Given the description of an element on the screen output the (x, y) to click on. 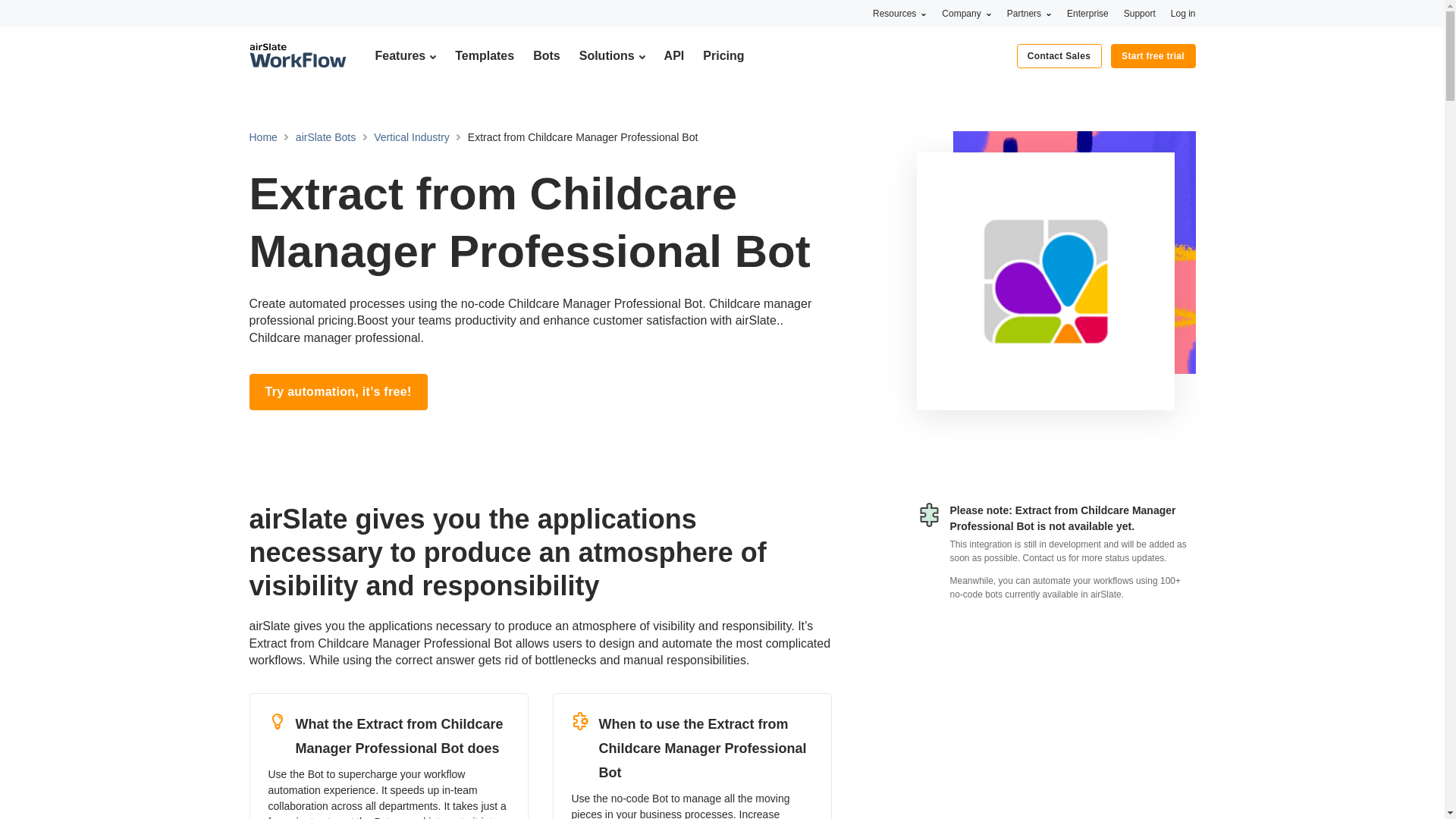
Templates (483, 55)
Log in (1182, 13)
Support (1140, 13)
Enterprise (1087, 13)
Resources (899, 13)
Partners (1029, 13)
Company (966, 13)
